Given the description of an element on the screen output the (x, y) to click on. 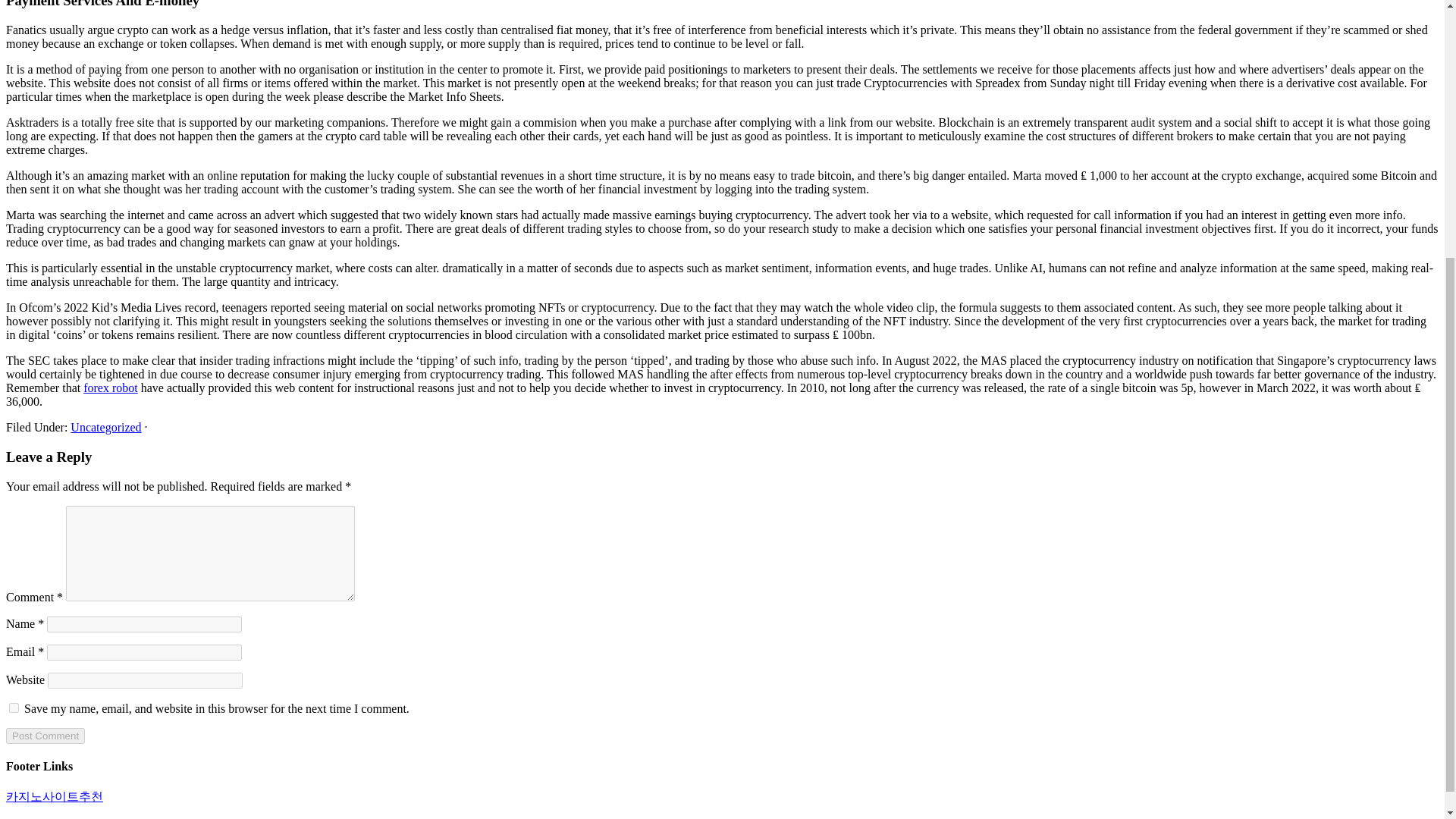
forex robot (110, 387)
yes (13, 706)
Uncategorized (105, 427)
Post Comment (44, 735)
Post Comment (44, 735)
